Given the description of an element on the screen output the (x, y) to click on. 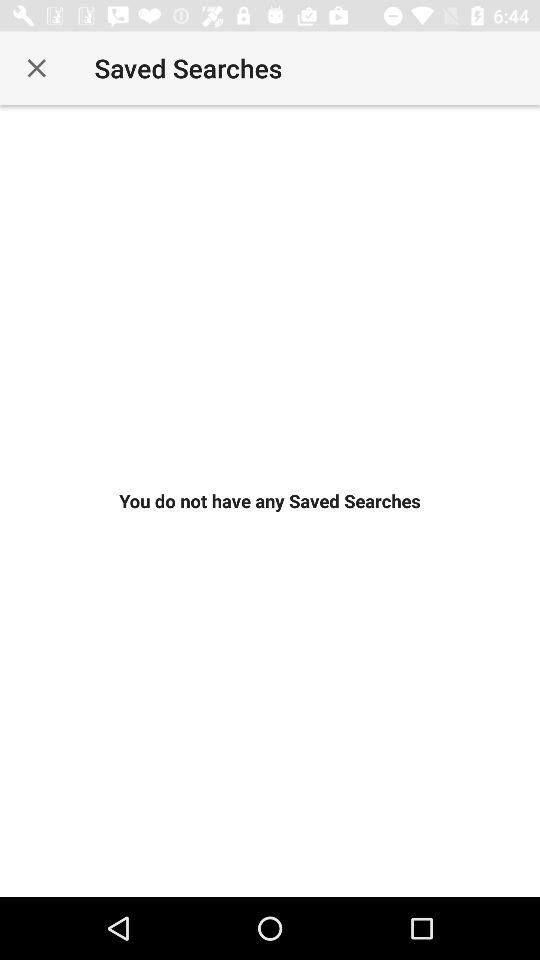
exit saved searches (36, 68)
